Given the description of an element on the screen output the (x, y) to click on. 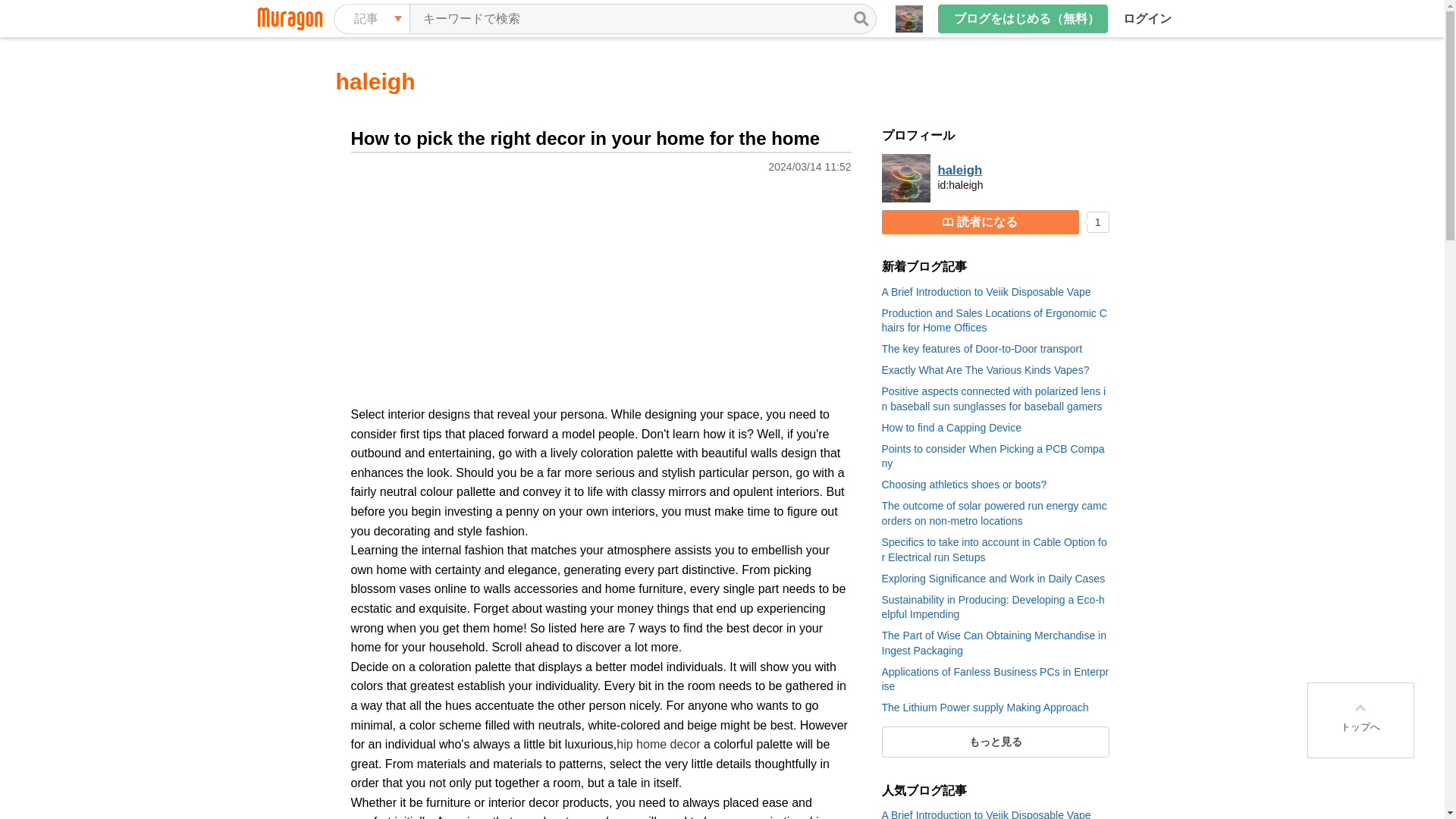
haleigh (374, 81)
hip home decor (657, 744)
